Given the description of an element on the screen output the (x, y) to click on. 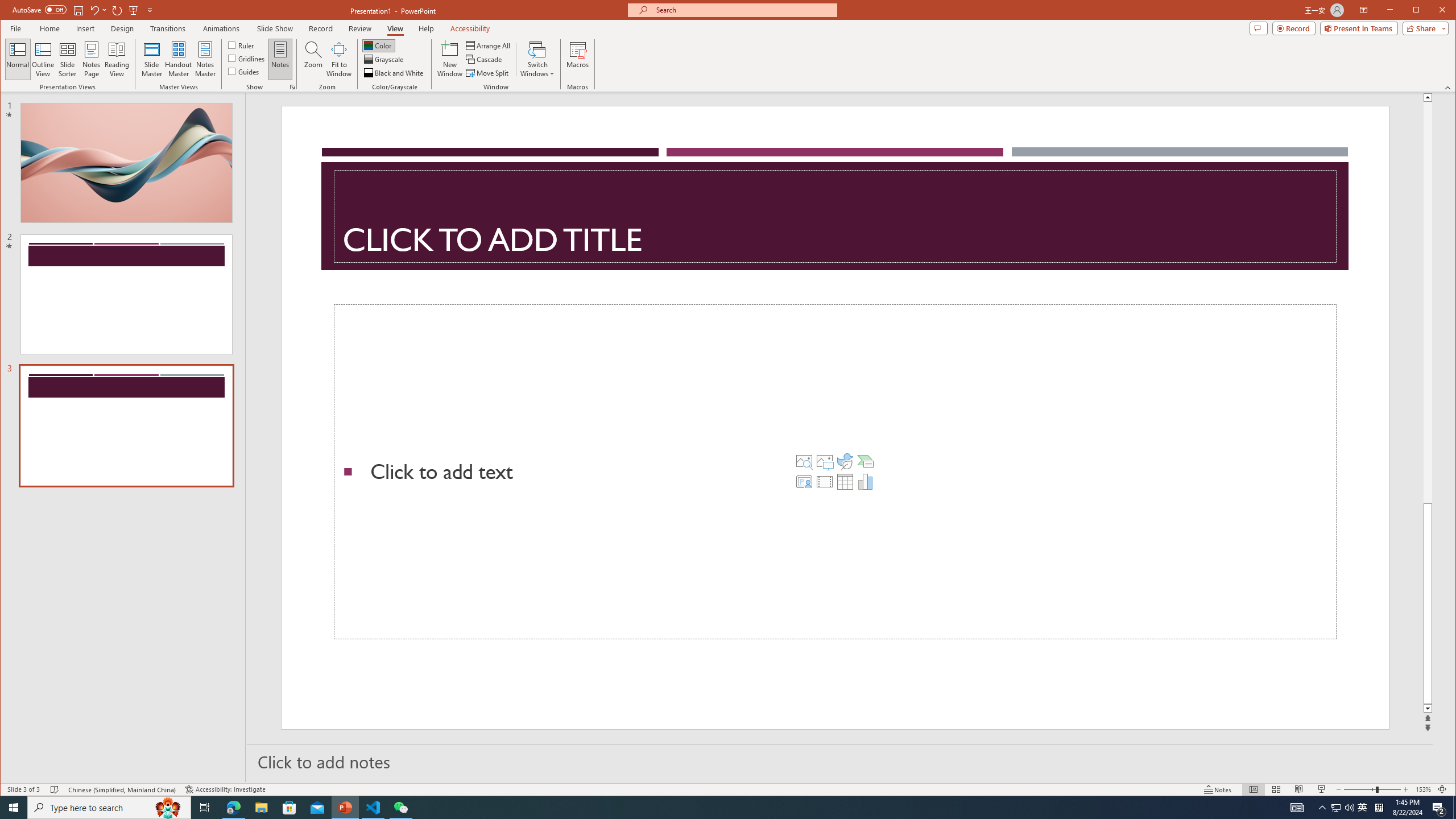
Notes Master (204, 59)
Black and White (394, 72)
Guides (243, 70)
